Given the description of an element on the screen output the (x, y) to click on. 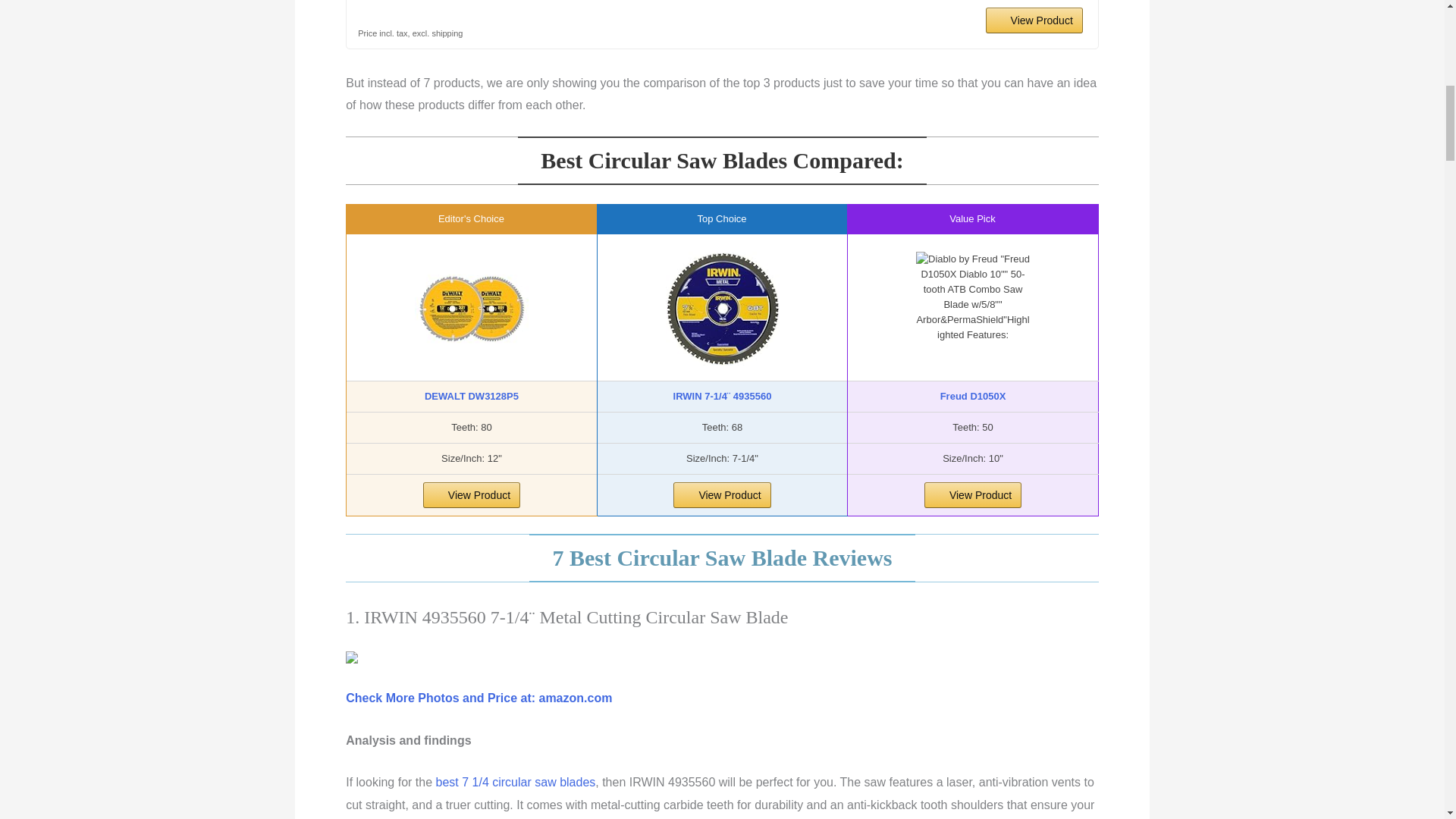
View Product (1034, 20)
Freud D1050X (973, 396)
View Product (973, 494)
View Product (973, 494)
DEWALT DW3128P5 (471, 396)
View Product (1034, 20)
View Product (471, 494)
View Product (721, 494)
View Product (721, 494)
View Product (471, 494)
Check More Photos and Price at: amazon.com (478, 697)
